Given the description of an element on the screen output the (x, y) to click on. 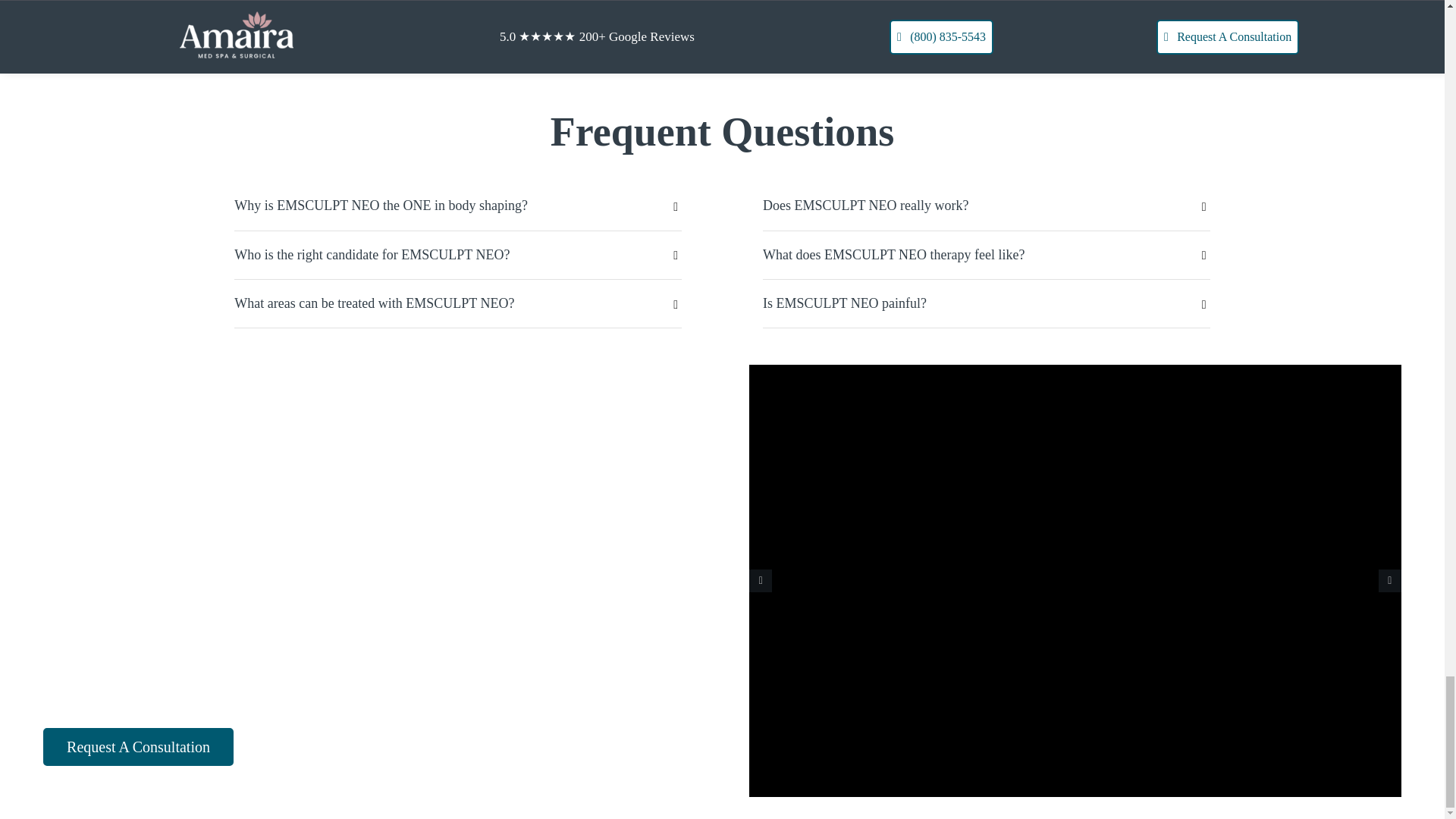
Is EMSCULPT NEO painful? (985, 303)
What areas can be treated with EMSCULPT NEO? (457, 303)
Who is the right candidate for EMSCULPT NEO? (457, 255)
Does EMSCULPT NEO really work? (985, 205)
What does EMSCULPT NEO therapy feel like? (985, 255)
Request A Consultation (137, 746)
Why is EMSCULPT NEO the ONE in body shaping? (457, 205)
